Given the description of an element on the screen output the (x, y) to click on. 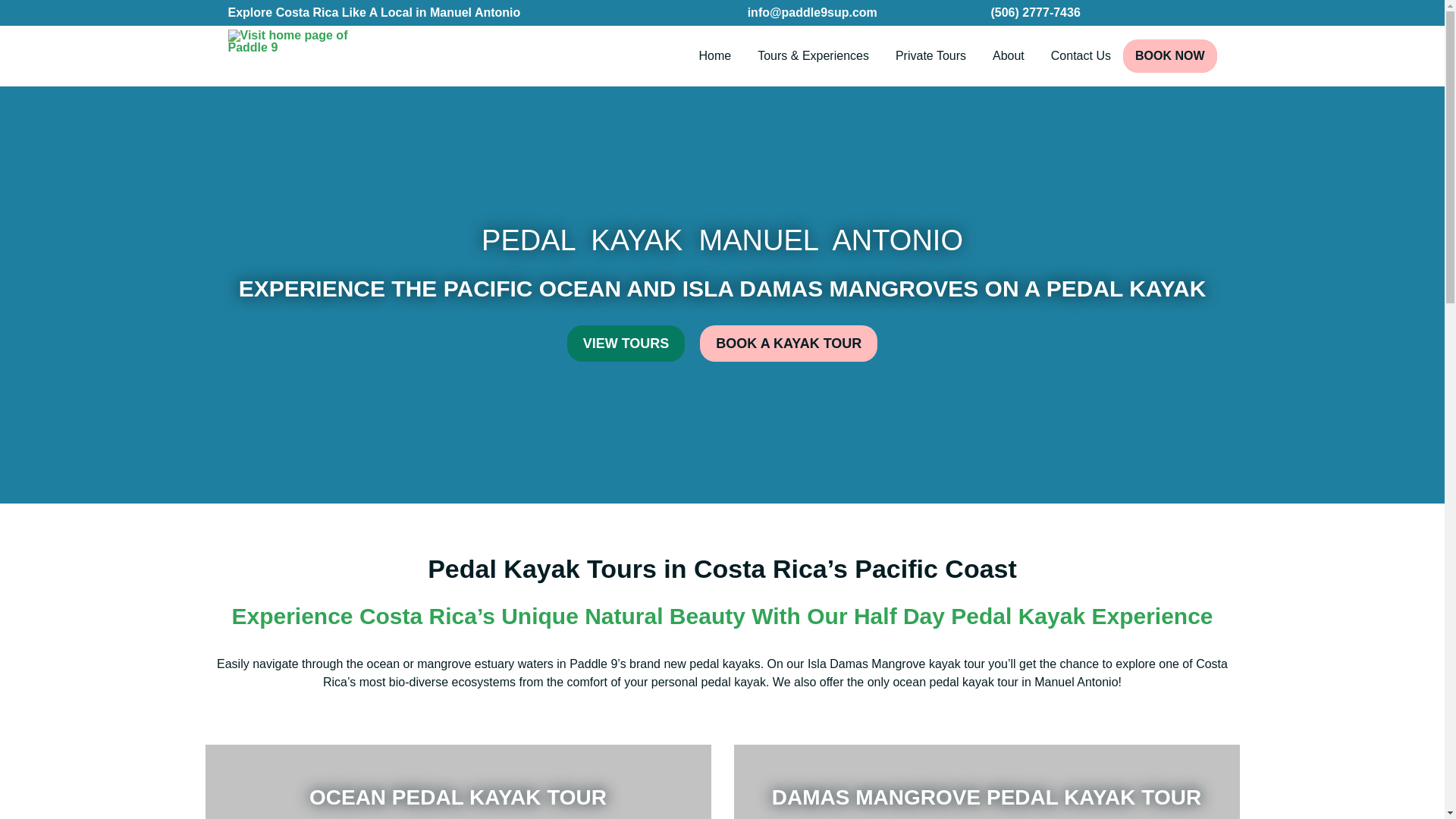
Visit Home page (302, 55)
Private Tours (930, 56)
Contact Us (1080, 56)
BOOK NOW (1169, 56)
Home (715, 56)
About (1007, 56)
Open in phone application (1035, 11)
